Given the description of an element on the screen output the (x, y) to click on. 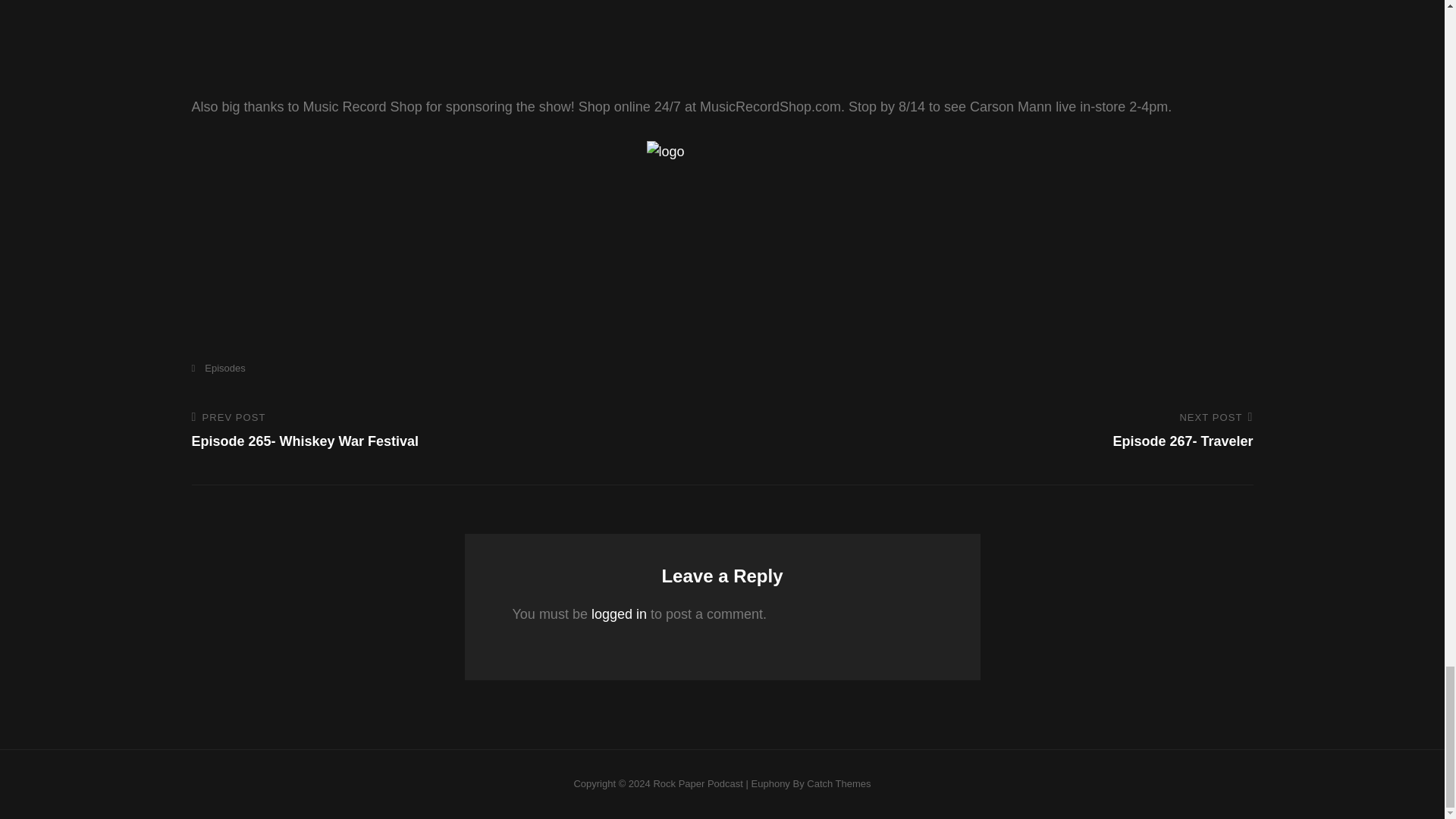
Catch Themes (838, 783)
Episodes (217, 367)
Rock Paper Podcast (445, 431)
logged in (697, 783)
